Given the description of an element on the screen output the (x, y) to click on. 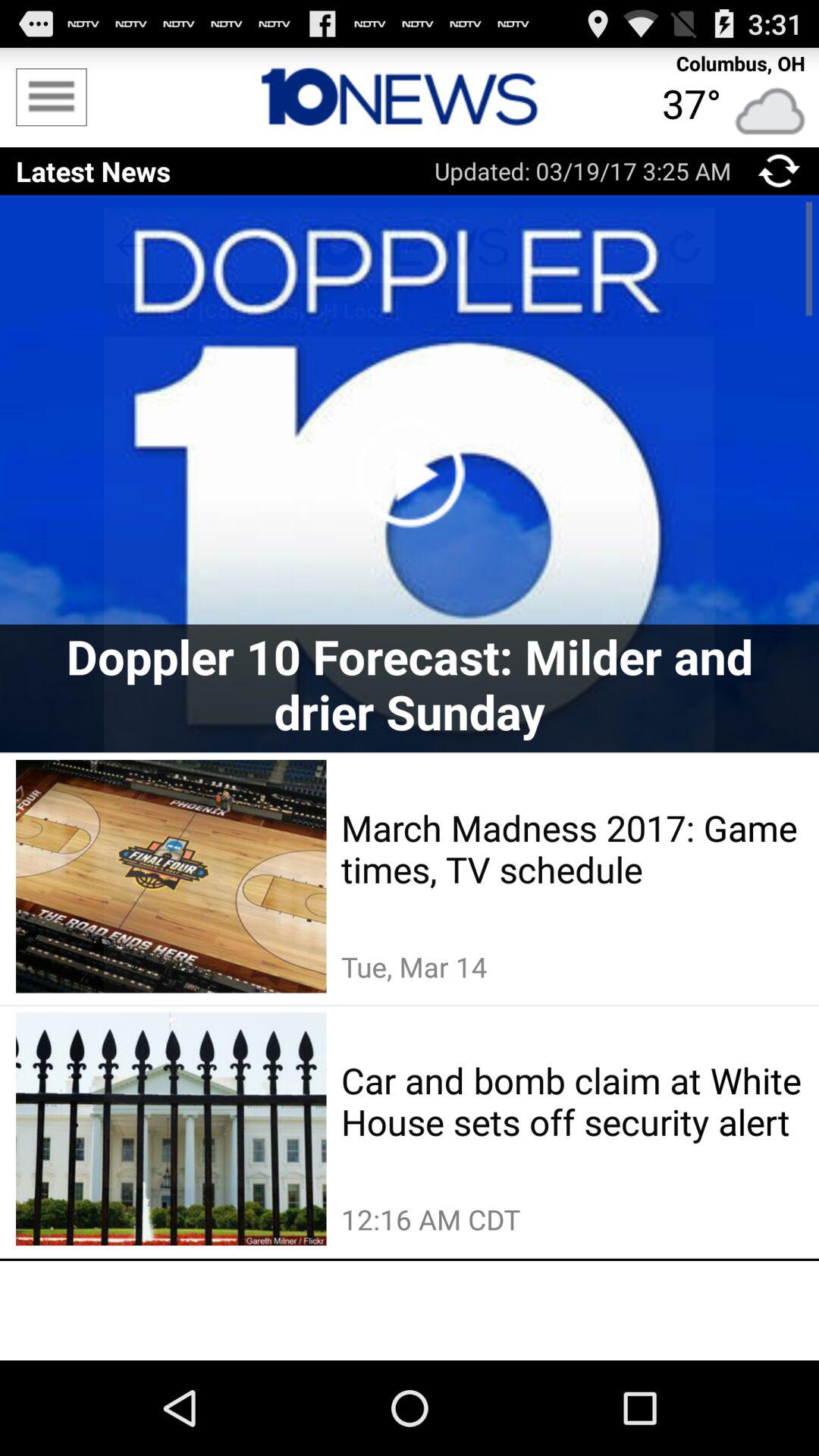
click refreshing (779, 171)
